Given the description of an element on the screen output the (x, y) to click on. 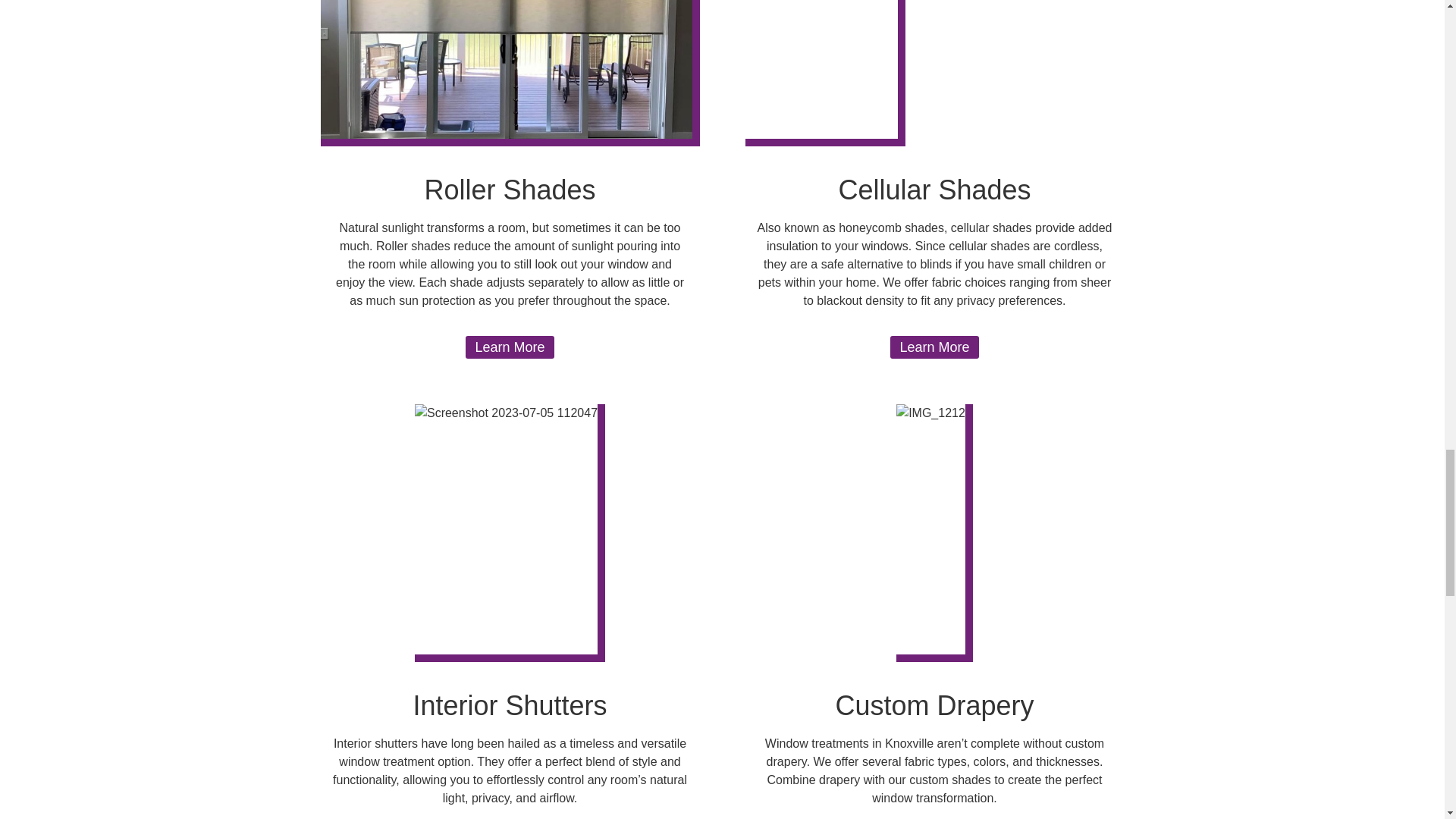
Screenshot 2023-07-05 112047 (509, 532)
Image 7-15-22 at 9.35 AM (824, 73)
Home 1 (509, 73)
